Given the description of an element on the screen output the (x, y) to click on. 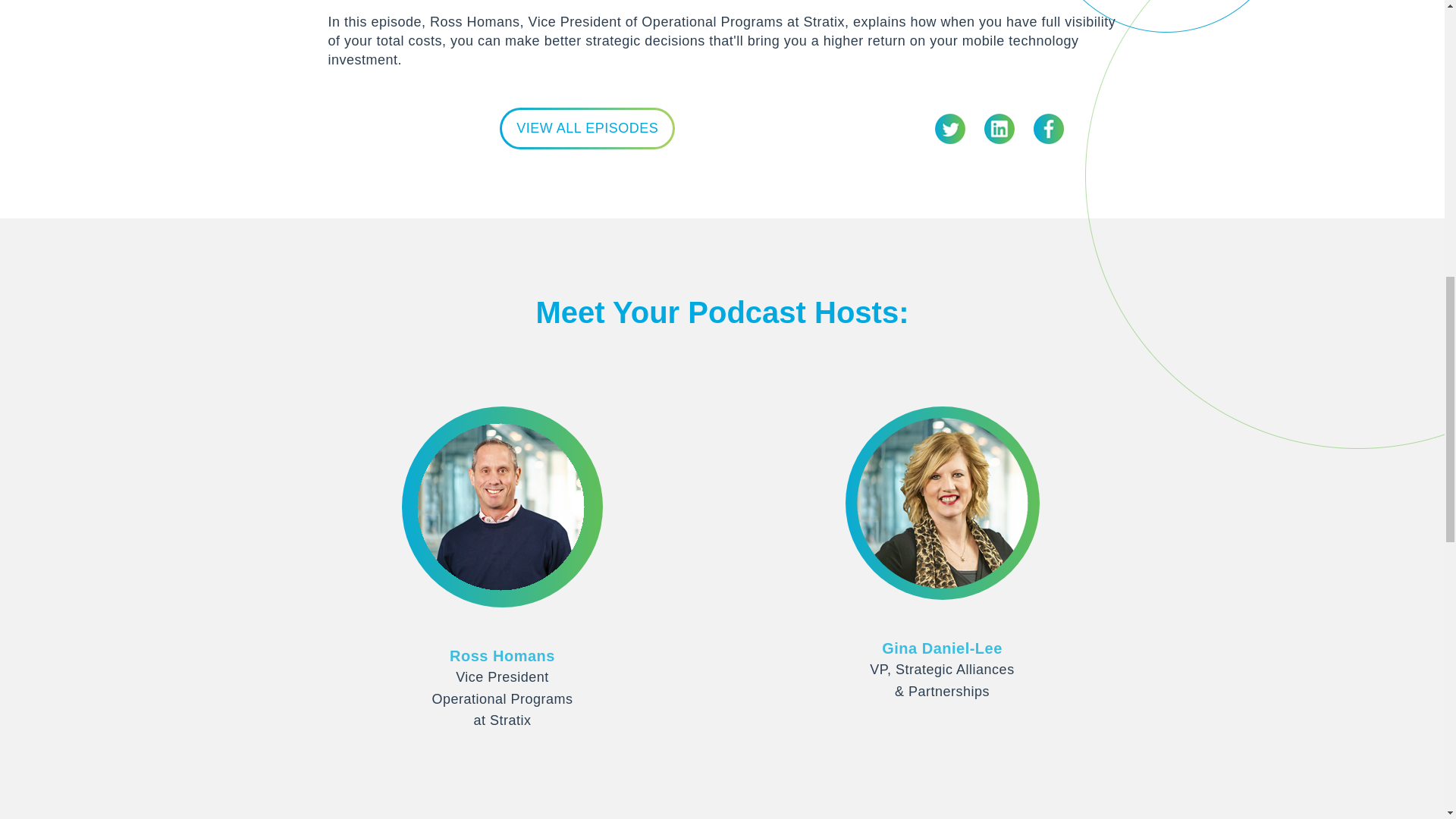
Ross Homans (501, 655)
Gina Daniel-Lee (942, 647)
VIEW ALL EPISODES (587, 128)
